Given the description of an element on the screen output the (x, y) to click on. 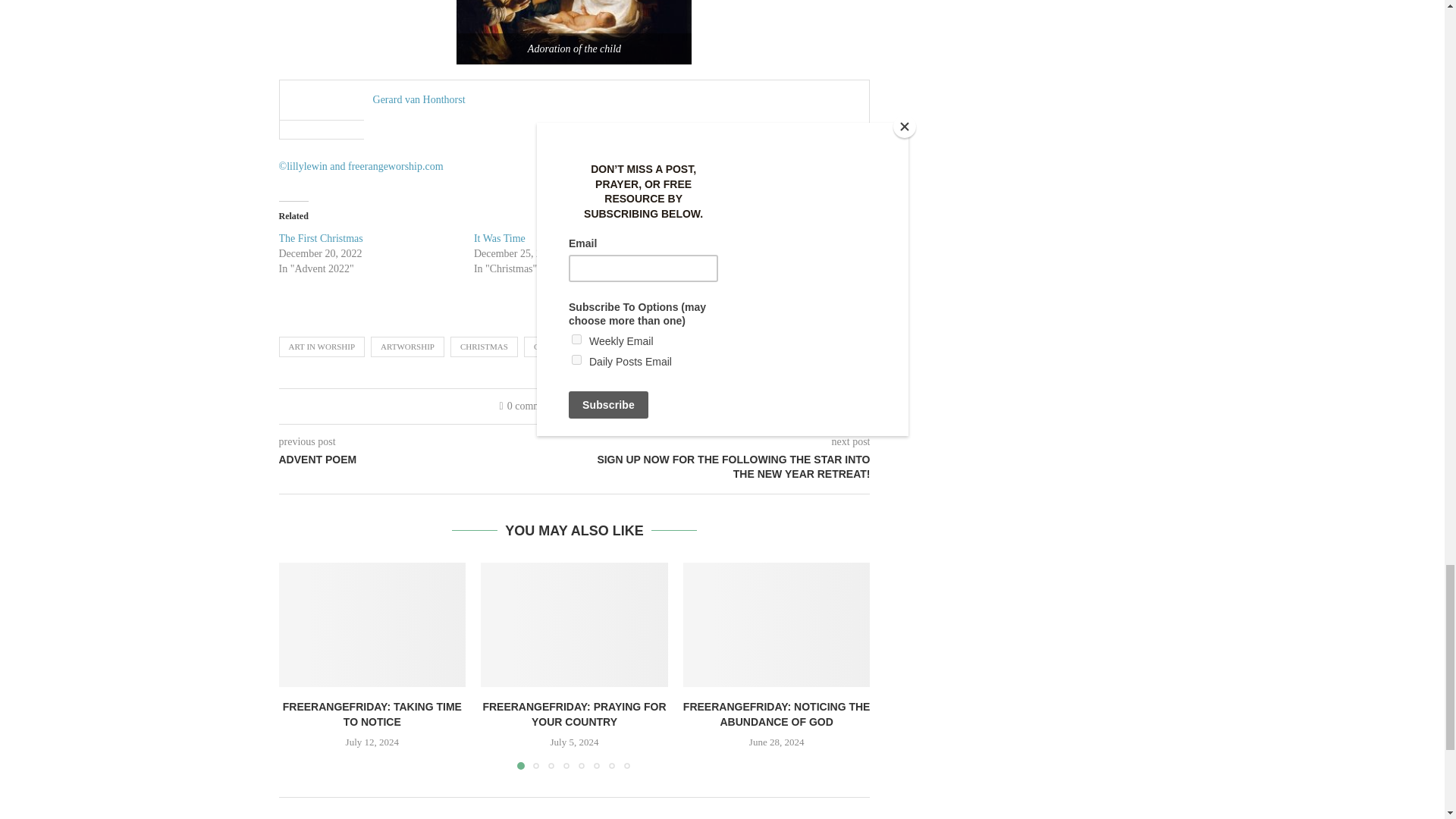
Gerard van Honthorst (418, 99)
Like (597, 406)
FreerangeFriday: Noticing the Abundance of God (776, 624)
It Was Time (499, 238)
The First Christmas (320, 238)
Adoration of the child (574, 32)
FreerangeFriday: Finding Joy with the Shepherds (749, 245)
FreerangeFriday: Praying for your Country (574, 624)
FreerangeFriday: Taking time to NOTICE (372, 624)
